Given the description of an element on the screen output the (x, y) to click on. 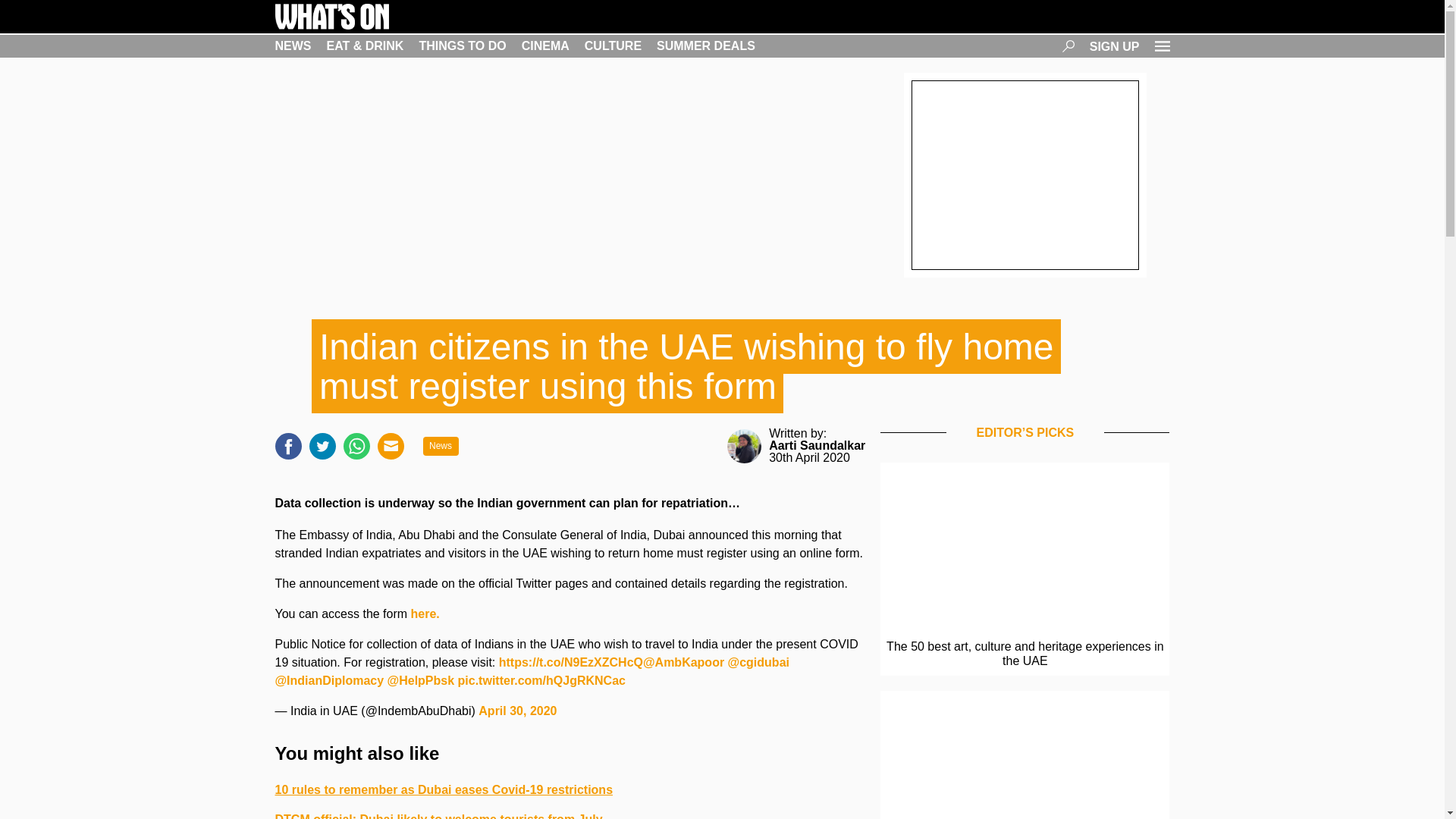
THINGS TO DO (462, 45)
CULTURE (613, 45)
NEWS (293, 45)
CINEMA (545, 45)
SUMMER DEALS (705, 45)
SIGN UP (1114, 45)
